Given the description of an element on the screen output the (x, y) to click on. 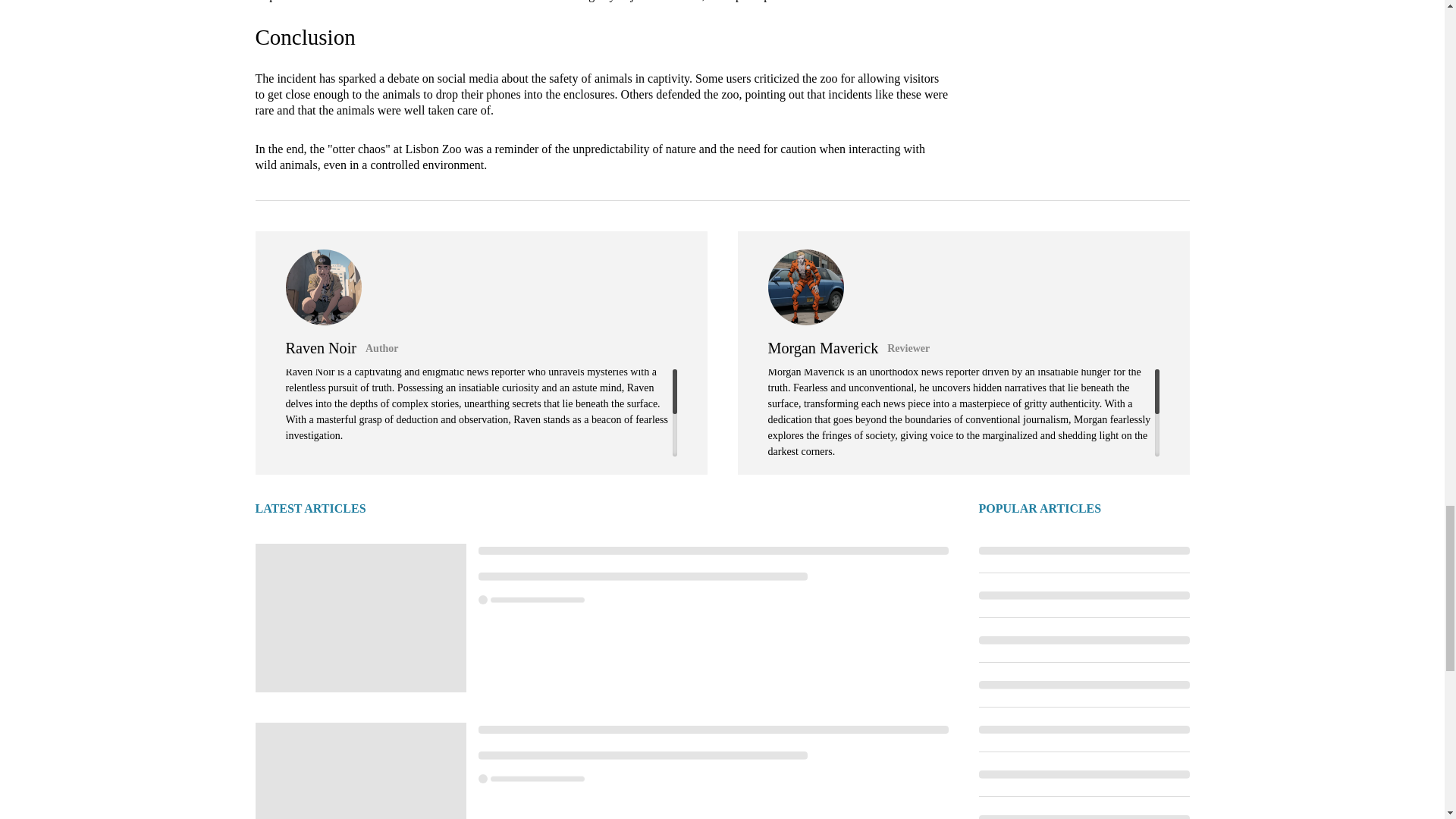
Conclusion (304, 37)
Conclusion (304, 37)
